Given the description of an element on the screen output the (x, y) to click on. 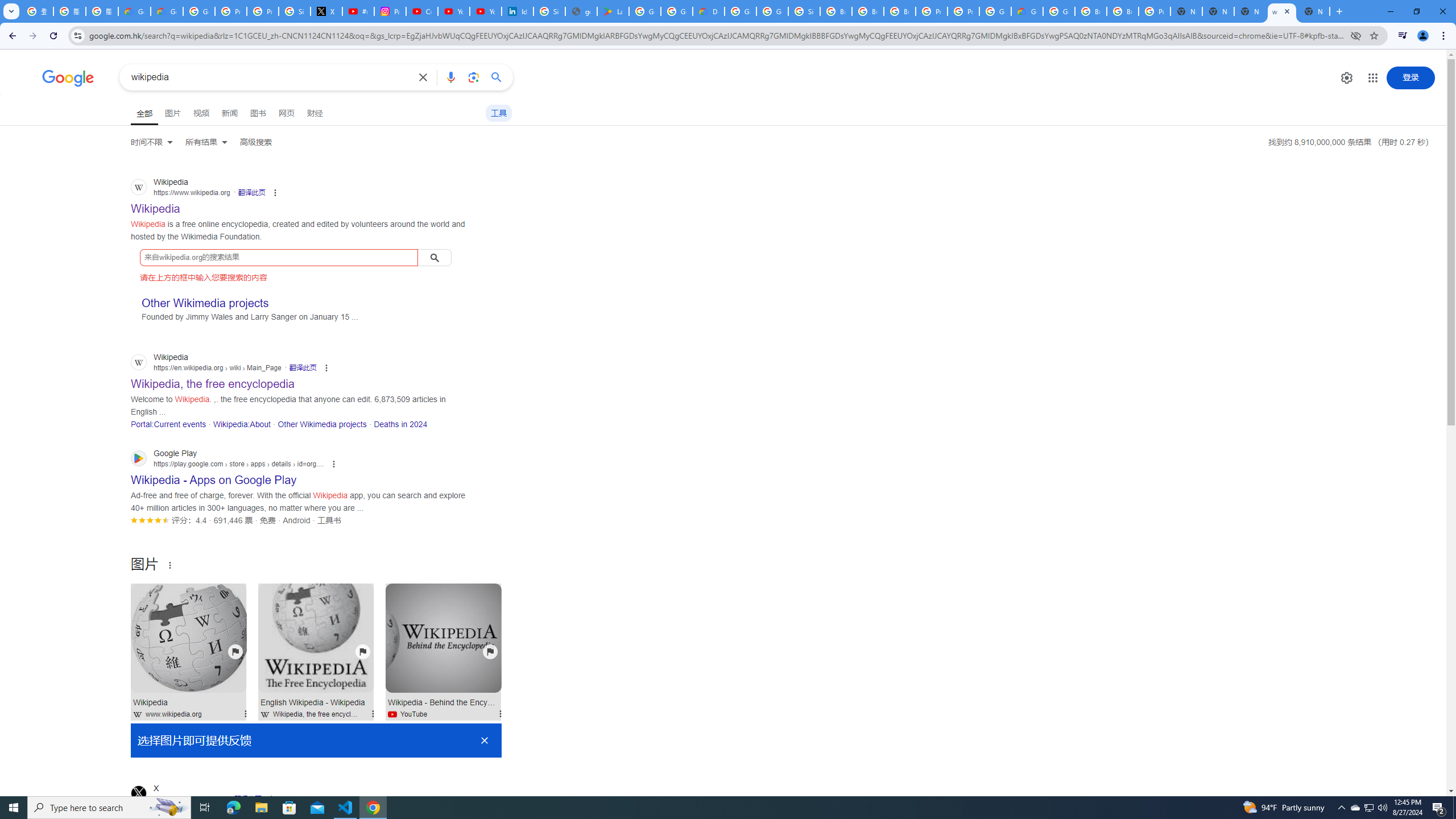
Privacy Help Center - Policies Help (230, 11)
New Tab (1185, 11)
Google Cloud Platform (1059, 11)
